Given the description of an element on the screen output the (x, y) to click on. 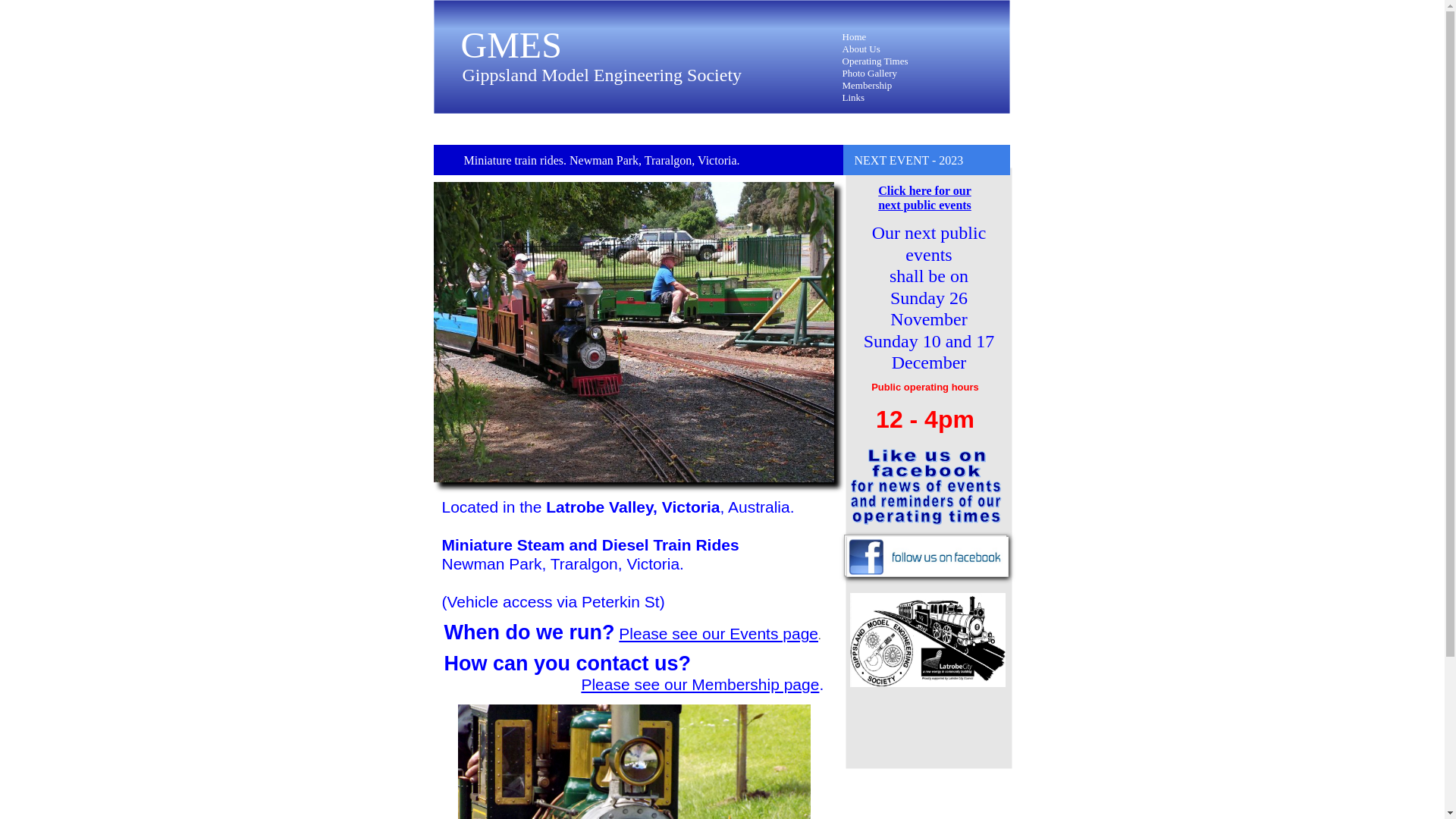
Links Element type: text (852, 97)
About Us Element type: text (860, 48)
next public events Element type: text (924, 204)
Please see our Events page Element type: text (718, 633)
Click here for our Element type: text (924, 190)
Operating Times Element type: text (874, 60)
Photo Gallery Element type: text (869, 72)
Membership Element type: text (866, 85)
Home Element type: text (853, 36)
Please see our Membership page Element type: text (699, 684)
